Given the description of an element on the screen output the (x, y) to click on. 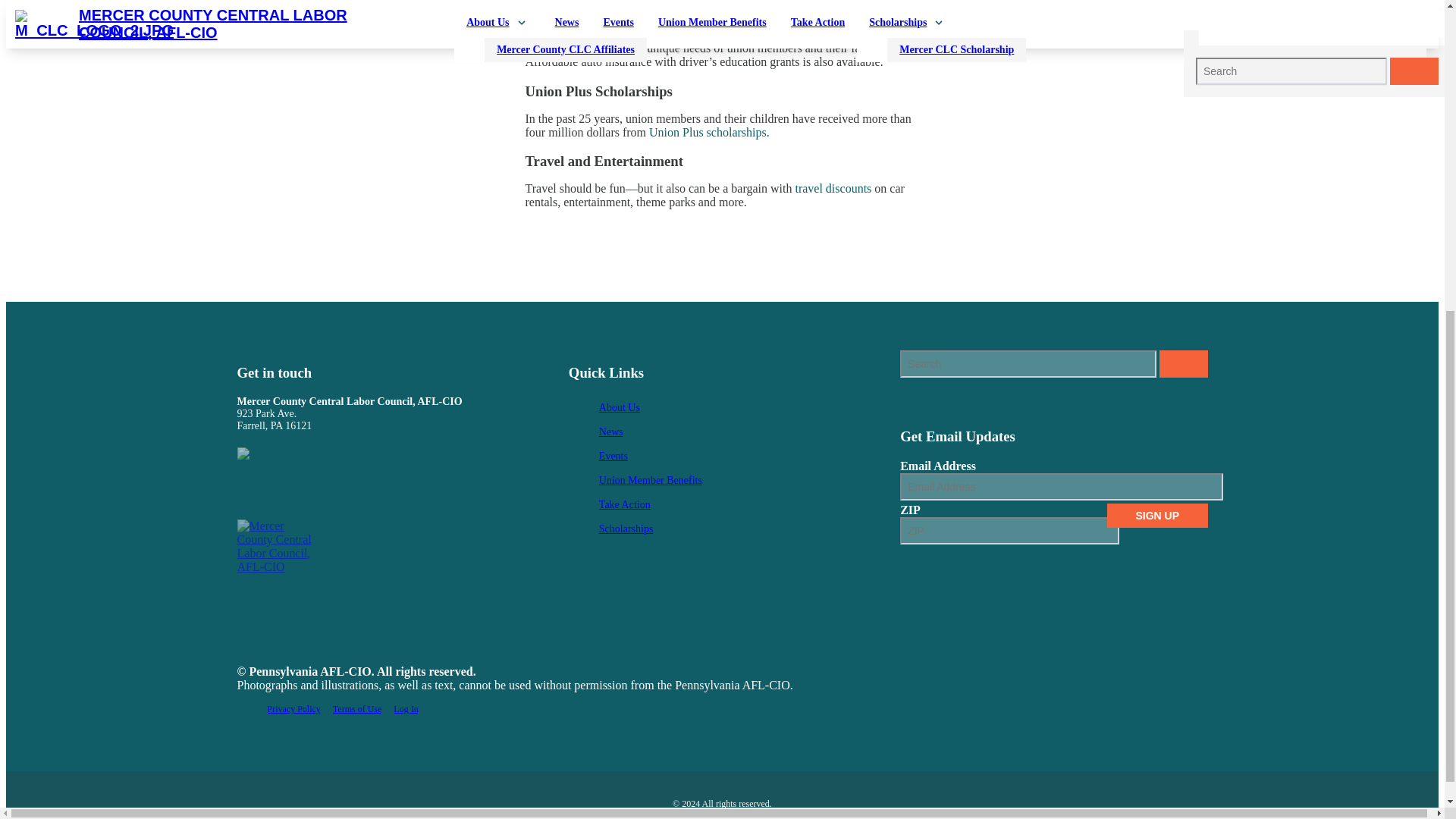
Union Plus scholarships (708, 131)
Events (751, 456)
About Us (751, 407)
travel discounts (832, 187)
insurance plans (873, 33)
Facebook (239, 492)
News (751, 432)
Twitter (248, 492)
Union Member Benefits (751, 480)
